Given the description of an element on the screen output the (x, y) to click on. 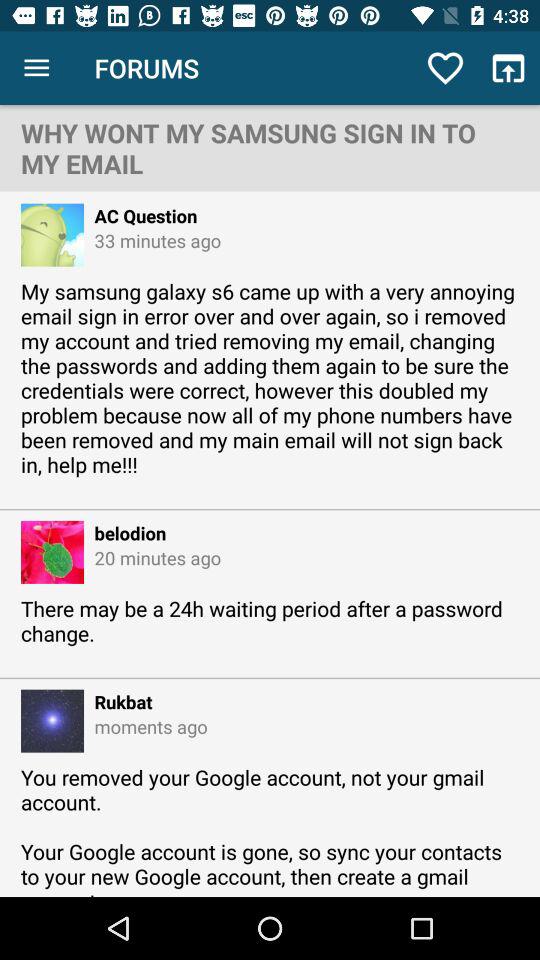
click item above the why wont my icon (444, 67)
